Given the description of an element on the screen output the (x, y) to click on. 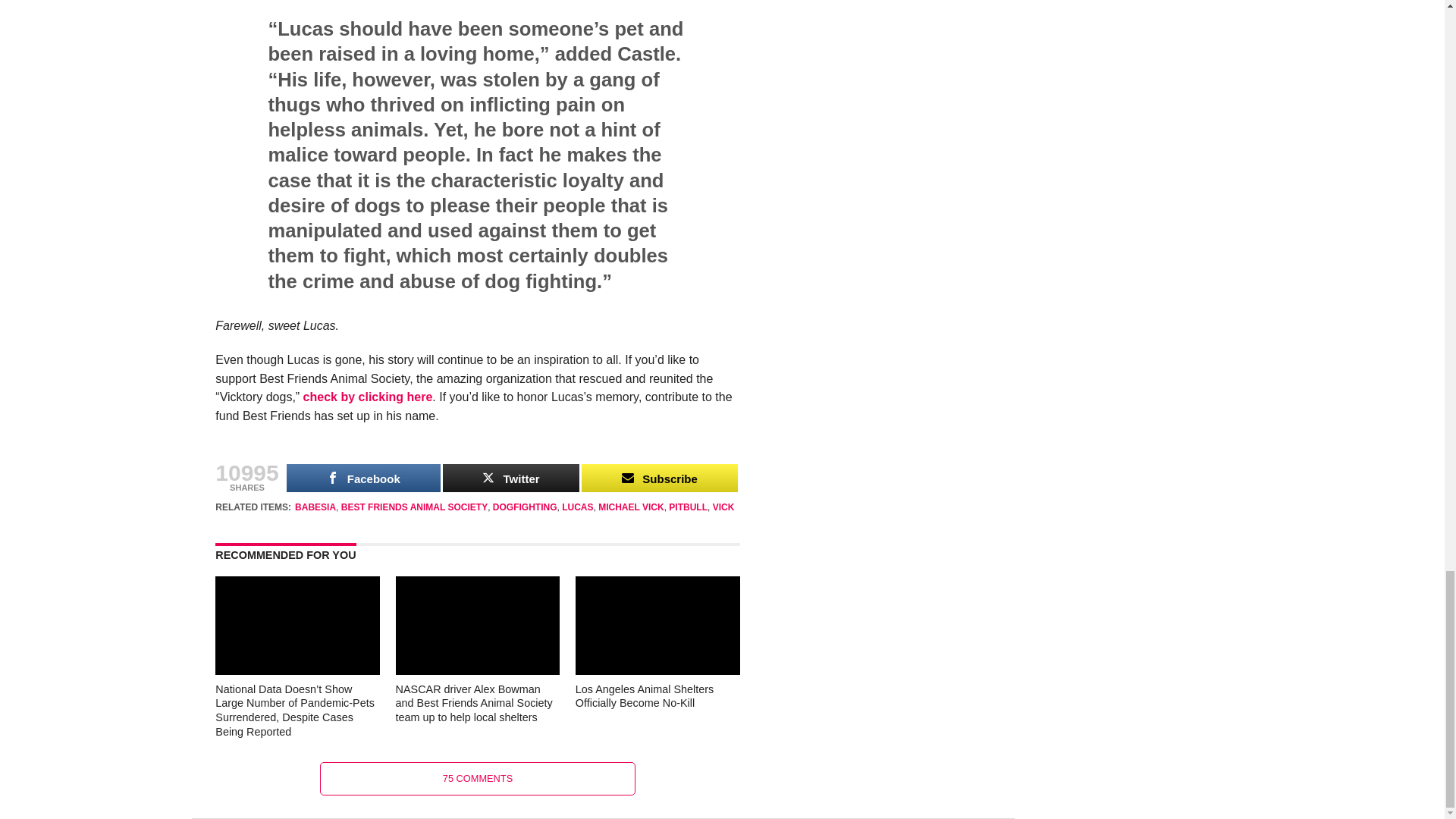
Los Angeles Animal Shelters Officially Become No-Kill (657, 670)
